Given the description of an element on the screen output the (x, y) to click on. 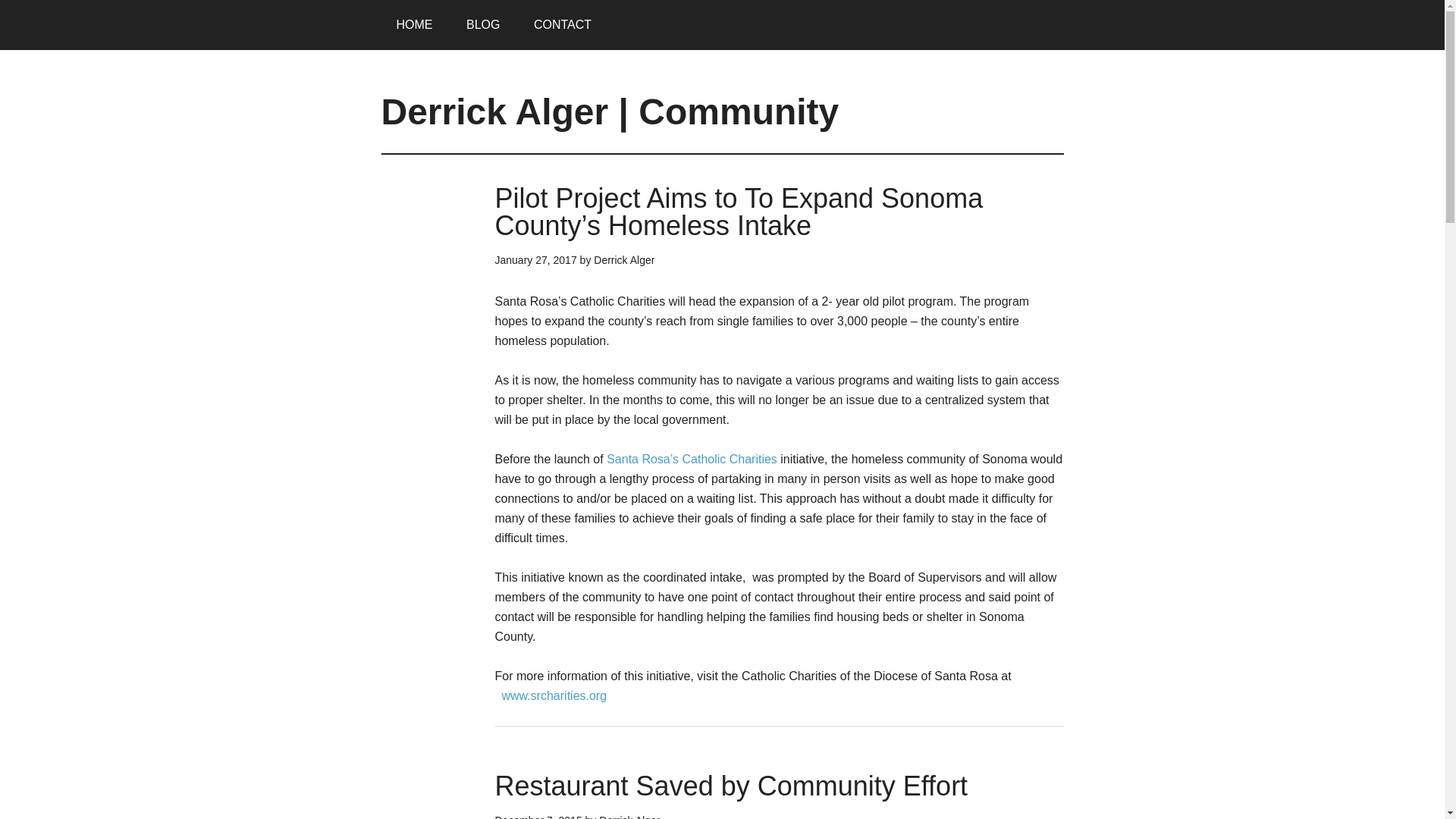
BLOG (483, 24)
Derrick Alger (628, 816)
Restaurant Saved by Community Effort (731, 785)
HOME (413, 24)
CONTACT (562, 24)
www.srcharities.org (553, 695)
Derrick Alger (623, 259)
